Given the description of an element on the screen output the (x, y) to click on. 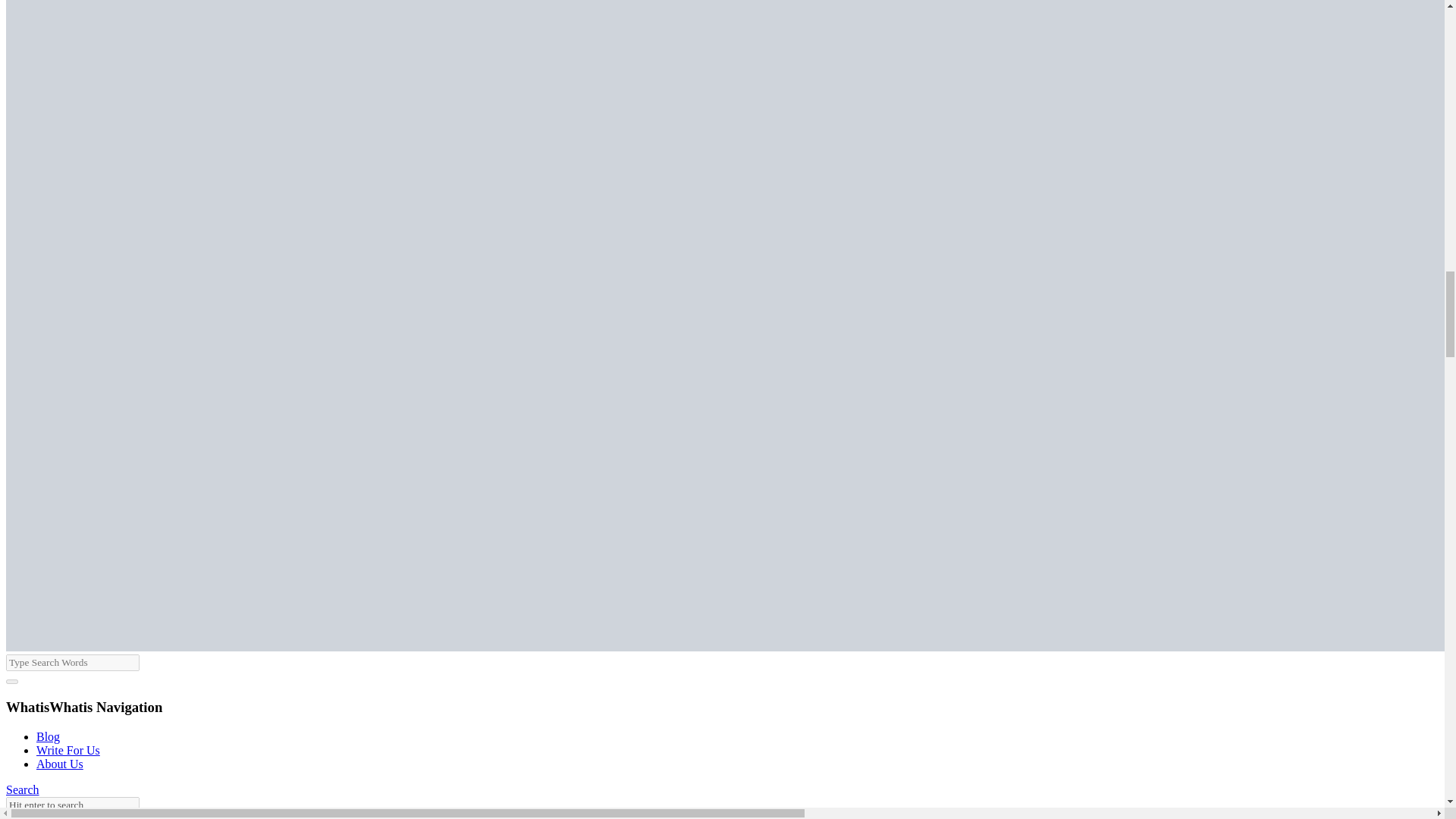
About Us (59, 763)
Blog (47, 736)
Search (22, 789)
Hit enter to search (72, 805)
Ask A Question (43, 816)
Write For Us (68, 749)
Hit enter to search (72, 805)
